Given the description of an element on the screen output the (x, y) to click on. 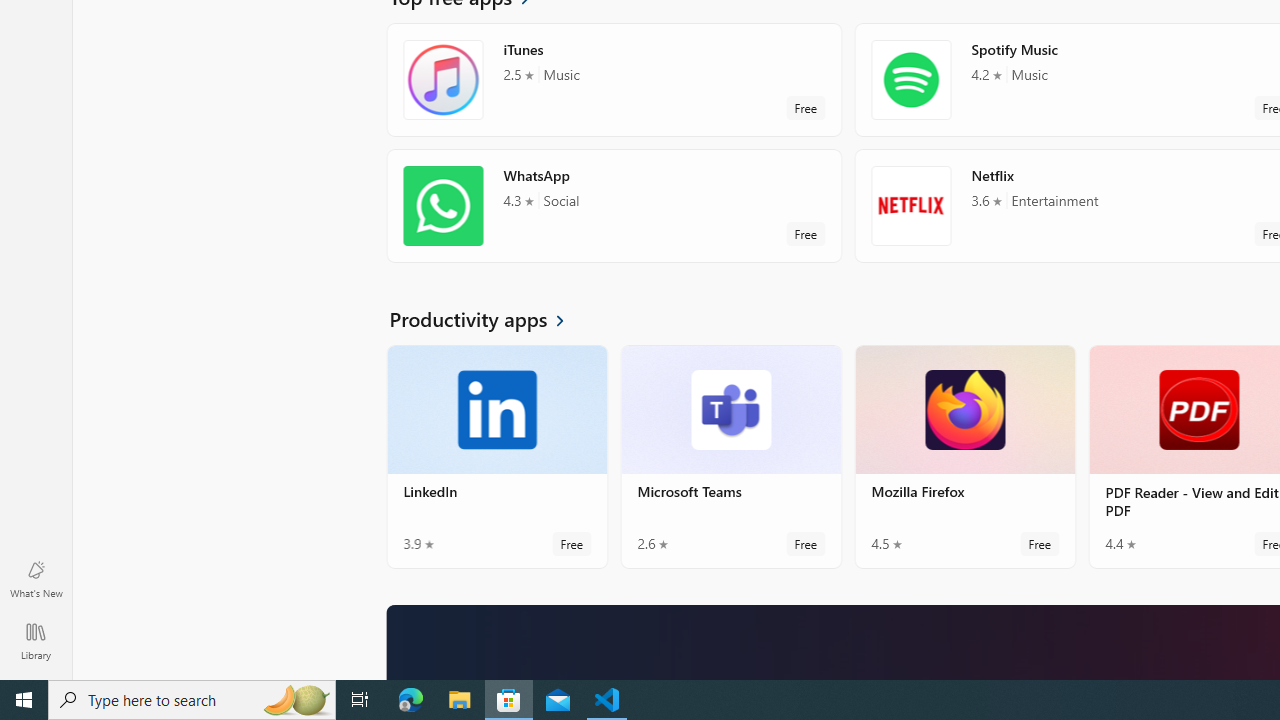
What's New (35, 578)
WhatsApp. Average rating of 4.3 out of five stars. Free   (614, 205)
See all  Productivity apps (488, 318)
Library (35, 640)
LinkedIn. Average rating of 3.9 out of five stars. Free   (497, 456)
iTunes. Average rating of 2.5 out of five stars. Free   (614, 79)
